Given the description of an element on the screen output the (x, y) to click on. 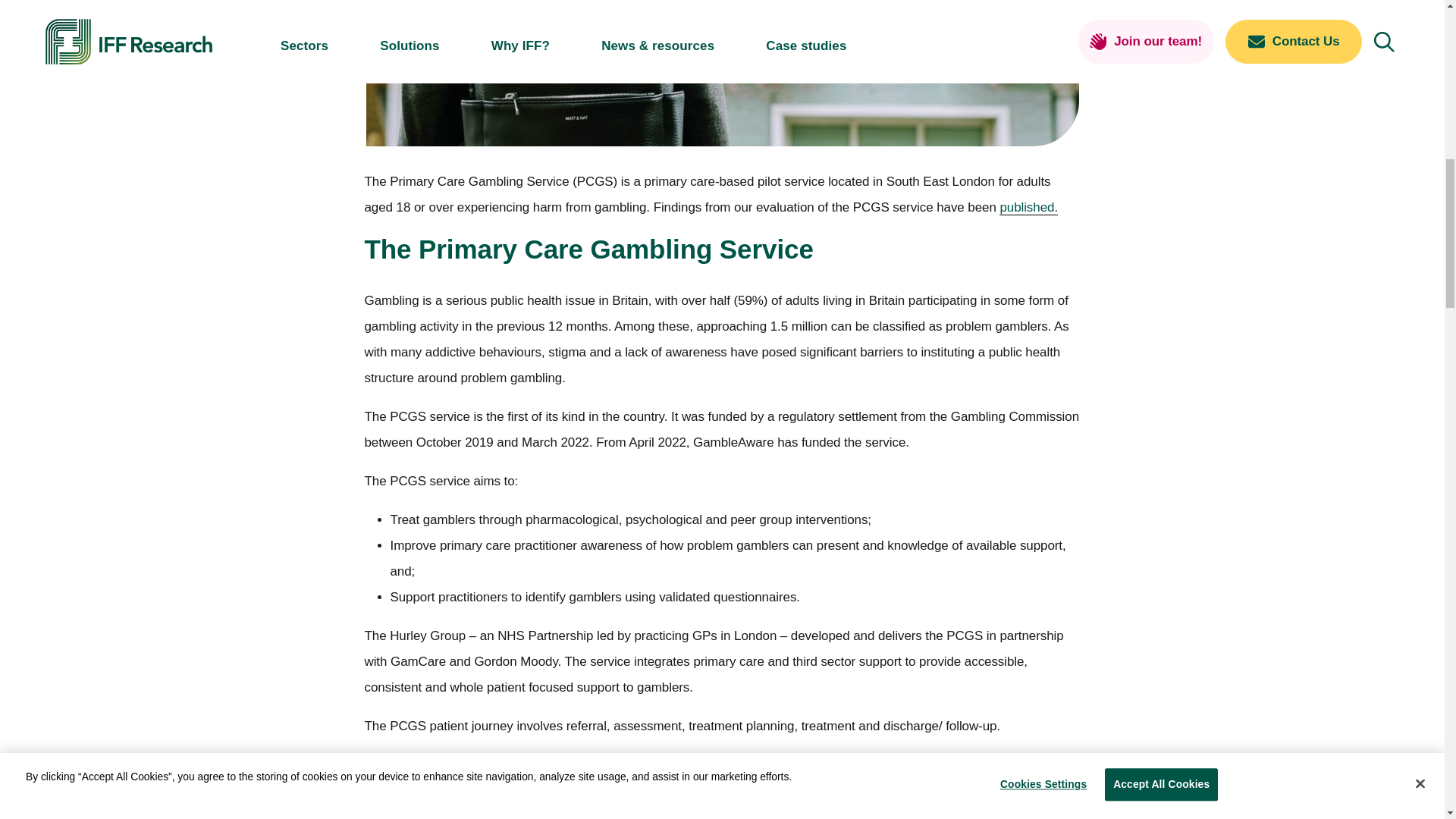
building online student-communities-1500x630 (722, 794)
